Given the description of an element on the screen output the (x, y) to click on. 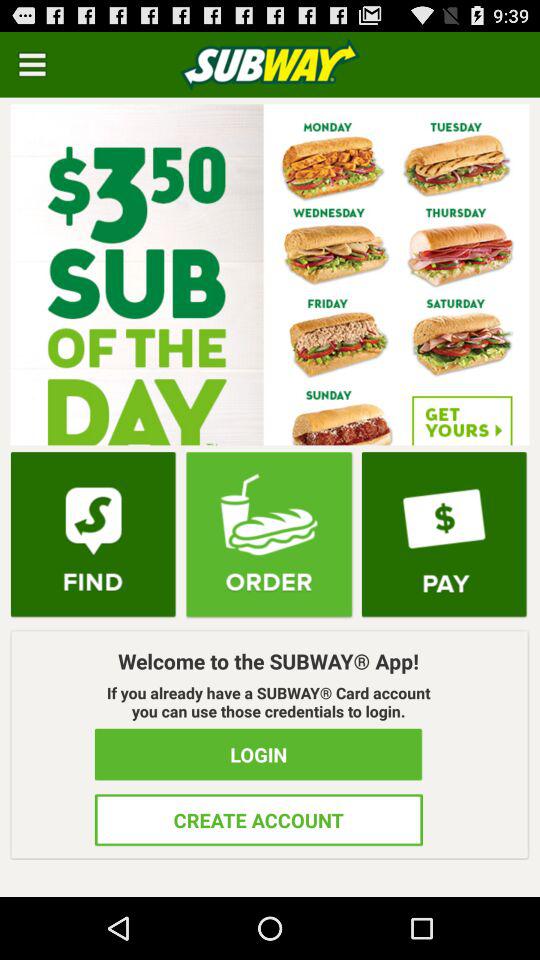
advertisement (269, 274)
